Given the description of an element on the screen output the (x, y) to click on. 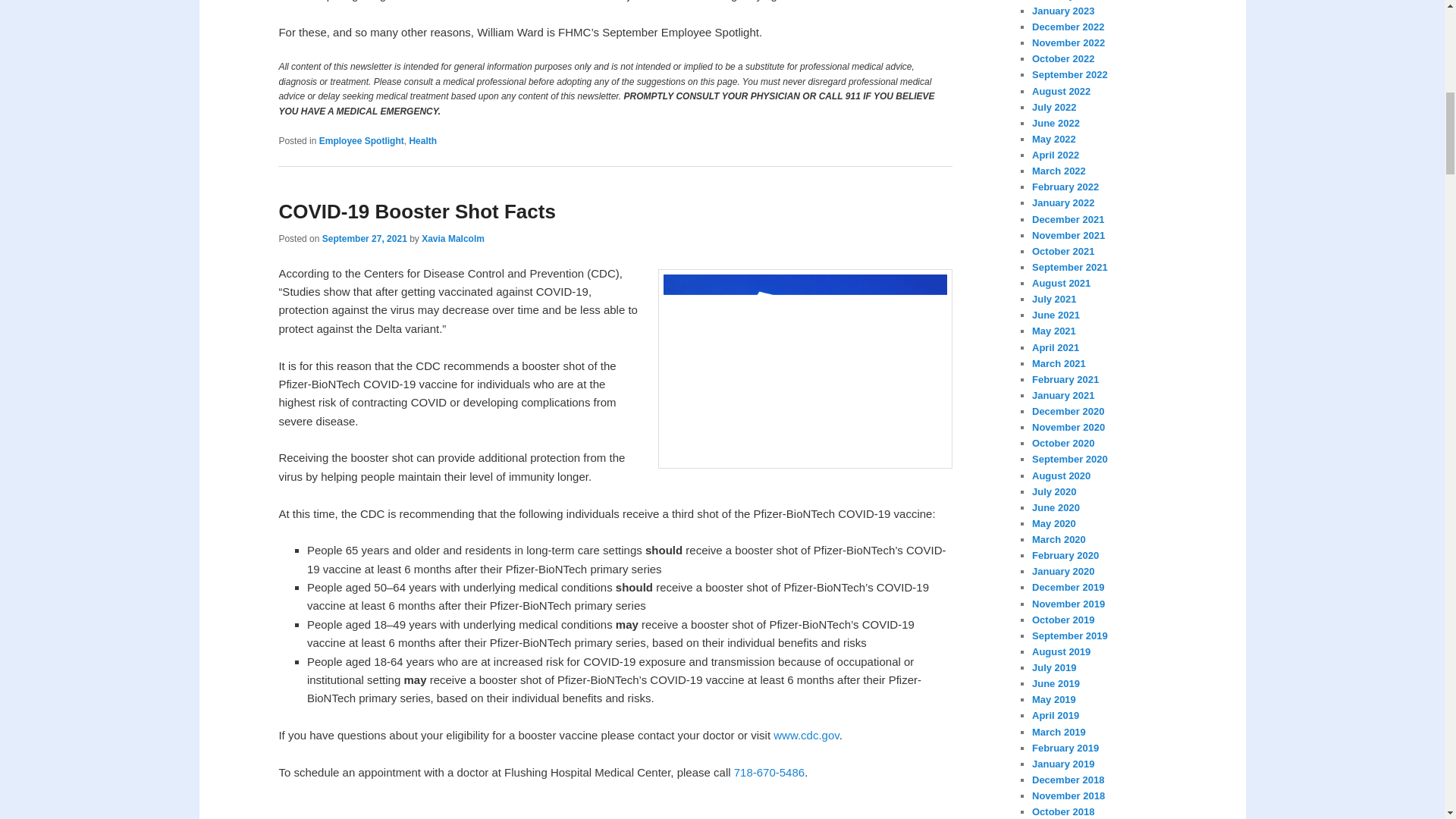
Health (422, 140)
www.cdc.gov (805, 735)
10:26 pm (364, 238)
718-670-5486 (769, 771)
Xavia Malcolm (453, 238)
COVID-19 Booster Shot Facts (417, 210)
September 27, 2021 (364, 238)
View all posts by Xavia Malcolm (453, 238)
Employee Spotlight (361, 140)
